Given the description of an element on the screen output the (x, y) to click on. 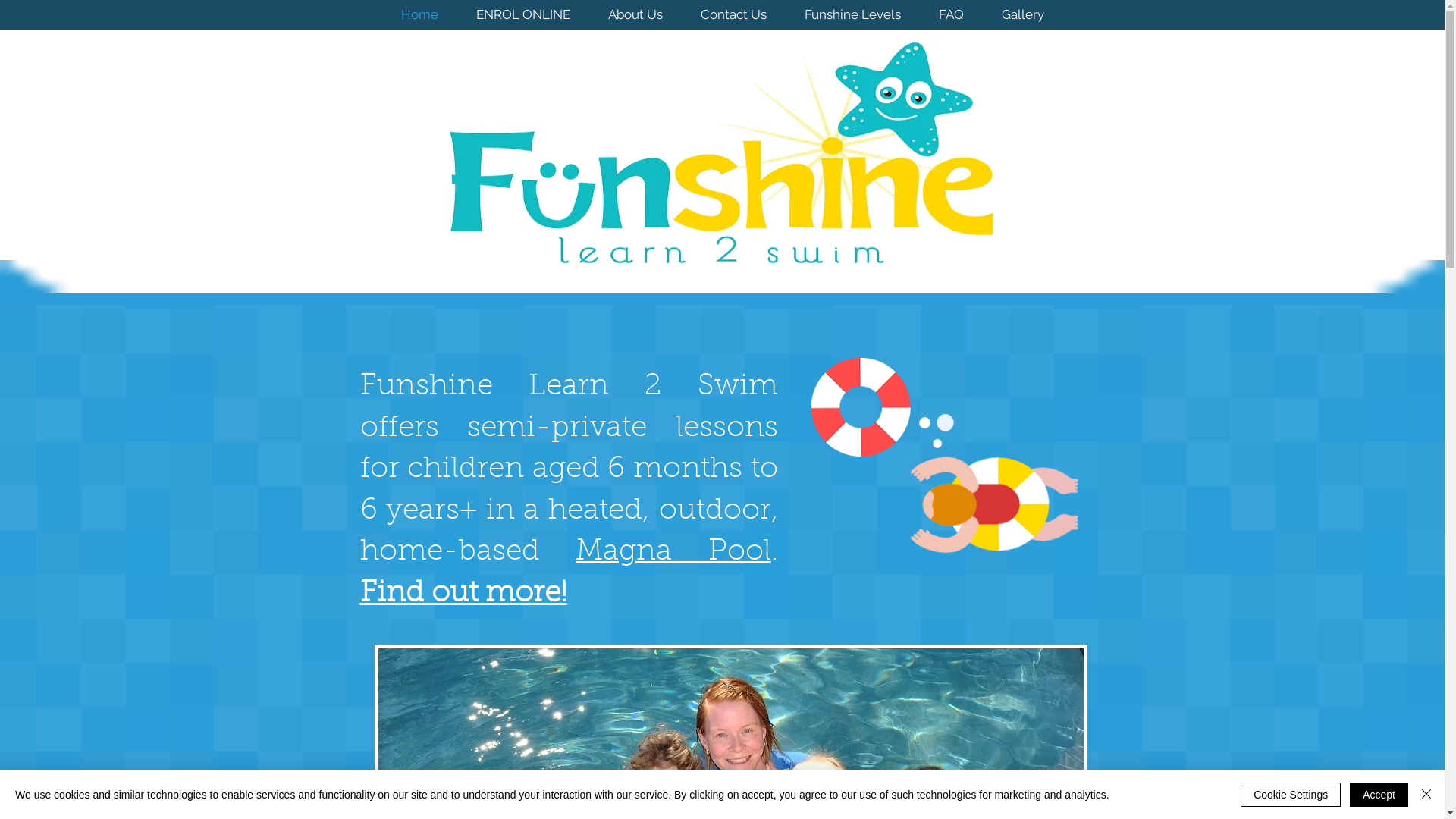
About Us Element type: text (634, 13)
Find out more! Element type: text (462, 593)
Facebook Like Element type: hover (992, 261)
Contact Us Element type: text (732, 13)
Accept Element type: text (1378, 794)
FAQ Element type: text (950, 13)
Gallery Element type: text (1022, 13)
ENROL ONLINE Element type: text (522, 13)
Cookie Settings Element type: text (1290, 794)
Magna Pool Element type: text (673, 552)
Home Element type: text (419, 13)
Funshine Levels Element type: text (852, 13)
